Given the description of an element on the screen output the (x, y) to click on. 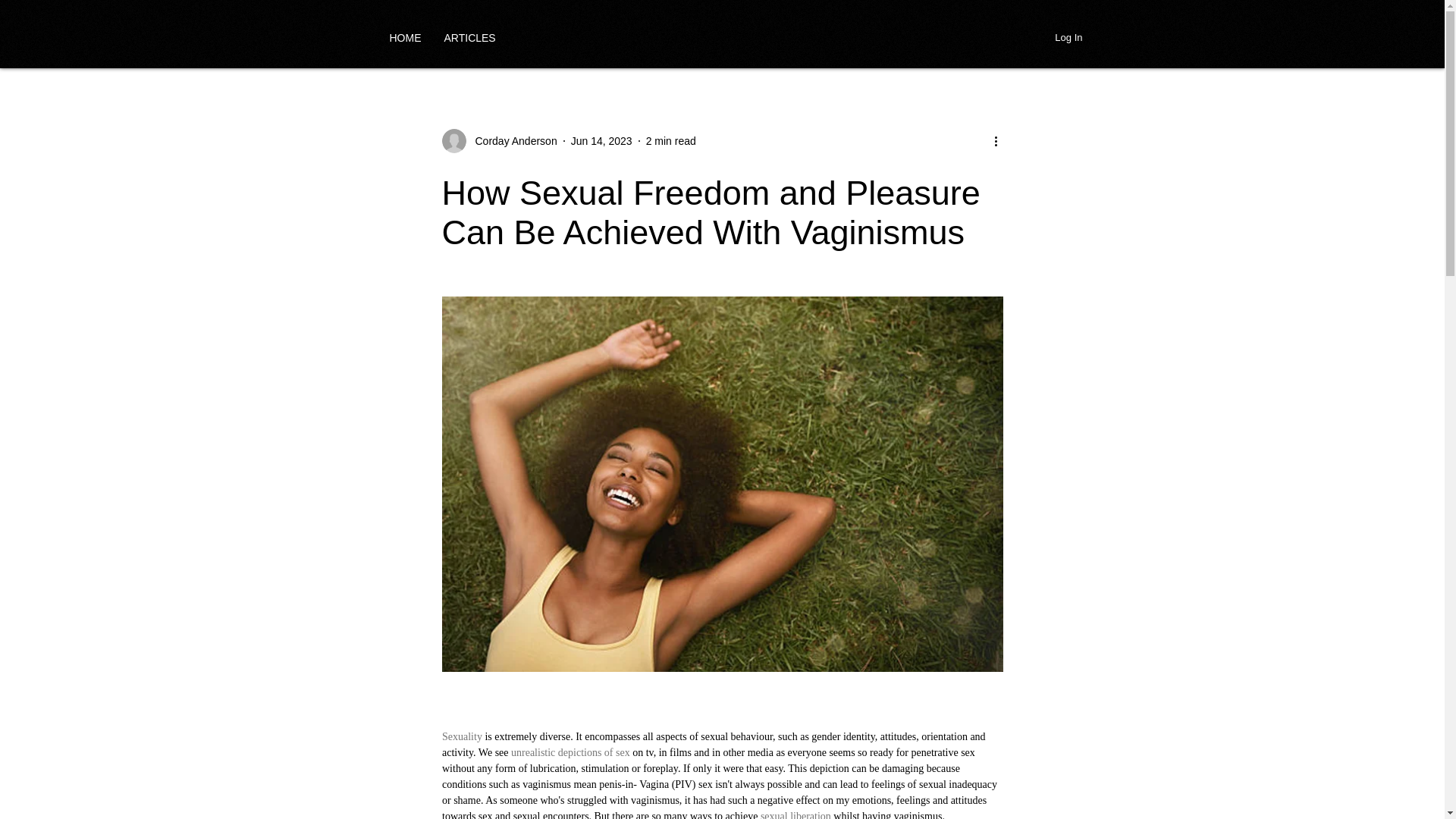
2 min read (670, 141)
sexual liberation (794, 814)
unrealistic depictions of sex  (571, 752)
Jun 14, 2023 (600, 141)
Sexuality (461, 736)
HOME (404, 37)
Log In (1068, 37)
Corday Anderson (498, 140)
Corday Anderson (510, 141)
ARTICLES (468, 37)
